Given the description of an element on the screen output the (x, y) to click on. 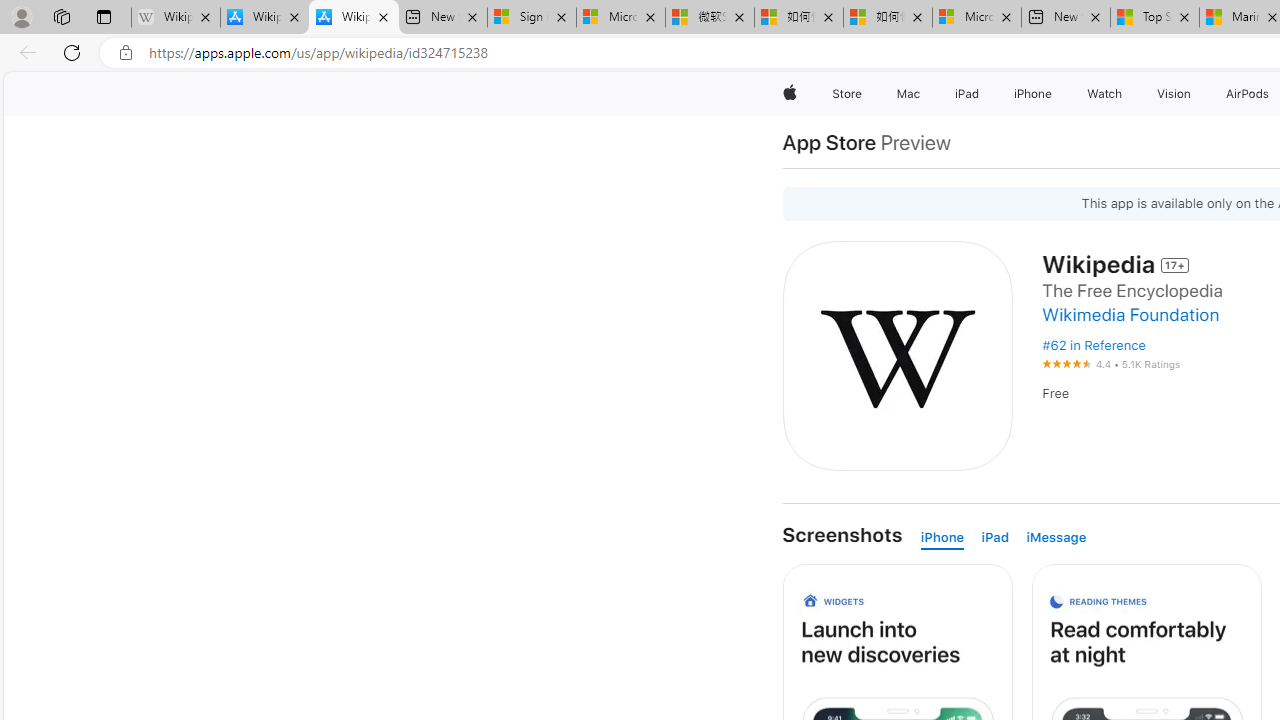
iPad menu (982, 93)
Mac (908, 93)
App Store (829, 141)
iPad (994, 538)
iMessage (1056, 538)
Apple (789, 93)
Class: globalnav-submenu-trigger-item (1195, 93)
Store (846, 93)
Vision menu (1195, 93)
iPhone (942, 538)
Vision (1174, 93)
